Given the description of an element on the screen output the (x, y) to click on. 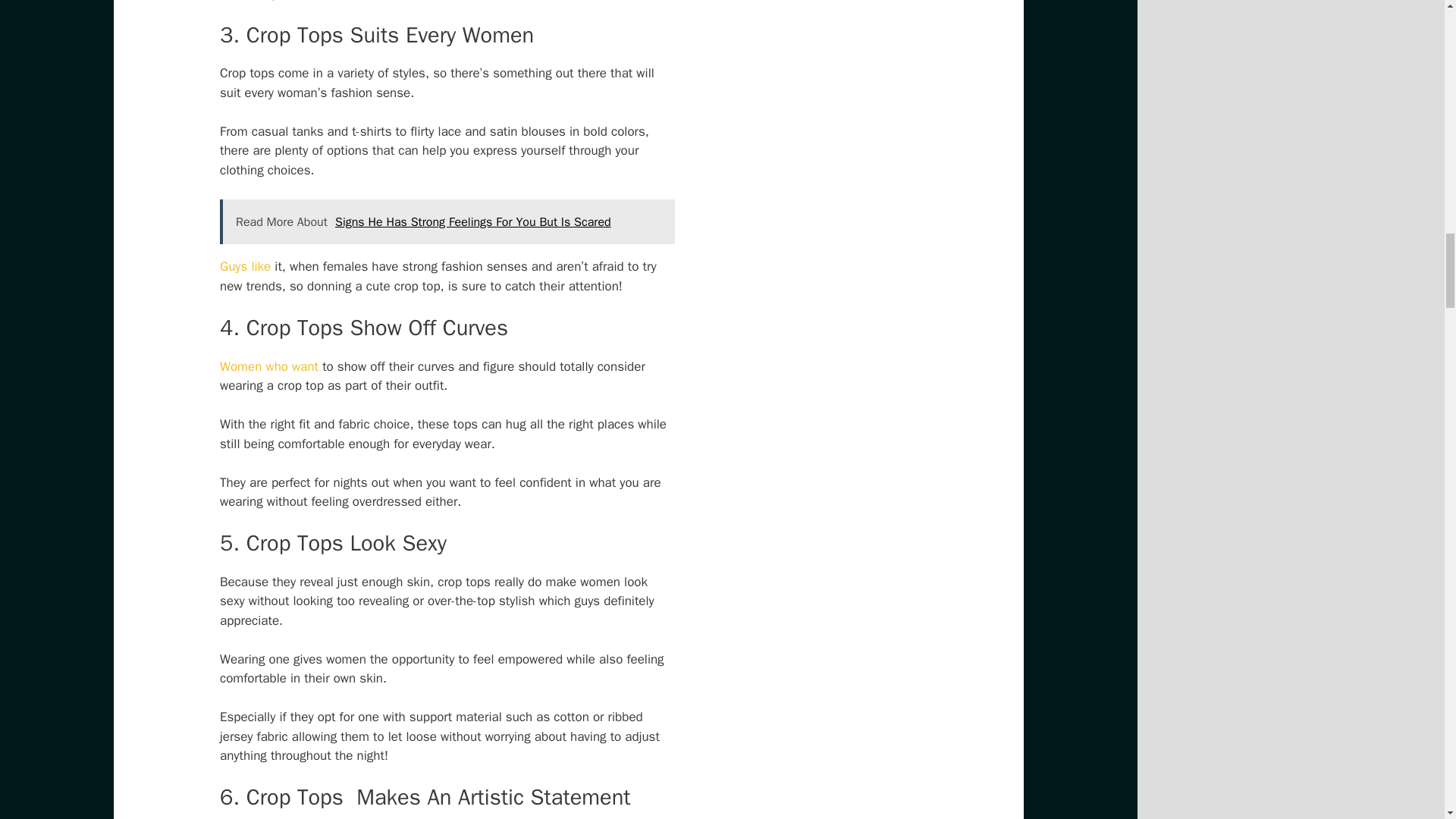
Guys like (244, 266)
Women who want (268, 366)
